Given the description of an element on the screen output the (x, y) to click on. 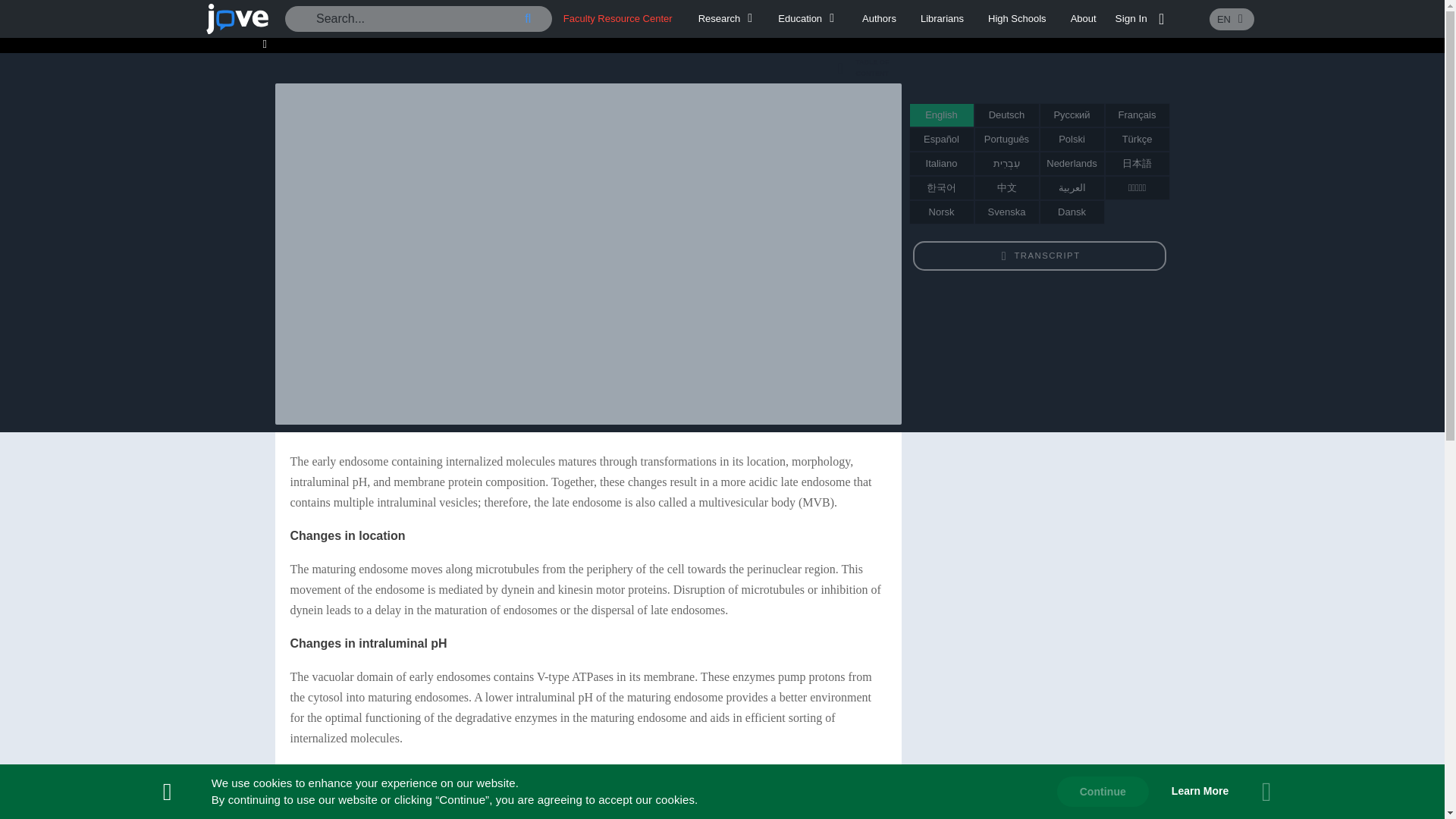
EN (1231, 18)
Faculty Resource Center (617, 18)
Education (807, 18)
English (941, 115)
About (1083, 18)
High Schools (1017, 18)
Librarians (941, 18)
Research (861, 68)
Authors (727, 18)
